Given the description of an element on the screen output the (x, y) to click on. 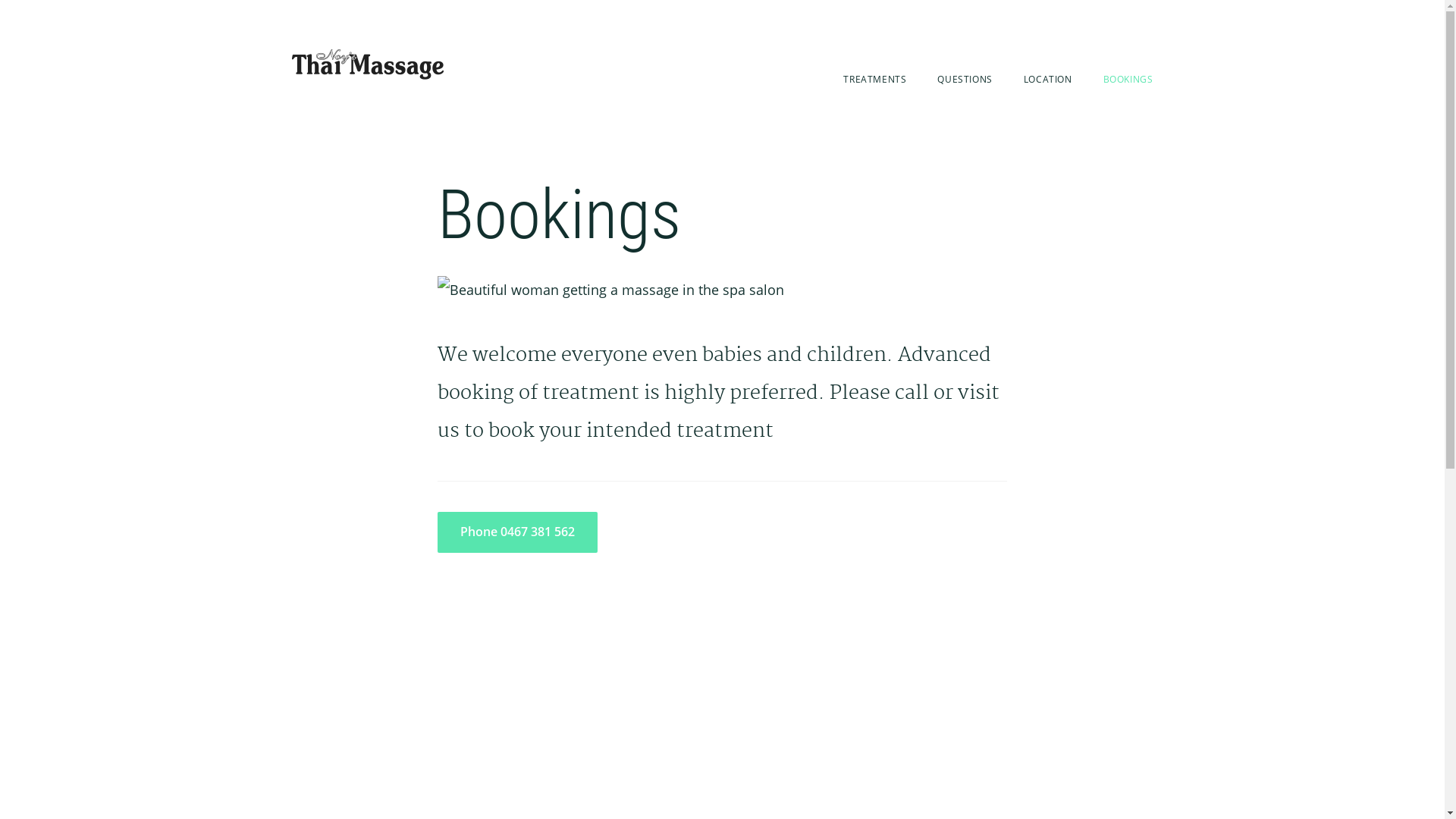
TREATMENTS Element type: text (874, 78)
Skip to primary navigation Element type: text (175, 0)
QUESTIONS Element type: text (964, 78)
LOCATION Element type: text (1047, 78)
BOOKINGS Element type: text (1128, 78)
Phone 0467 381 562 Element type: text (517, 531)
Noy's Thai Massage Element type: text (366, 77)
